Given the description of an element on the screen output the (x, y) to click on. 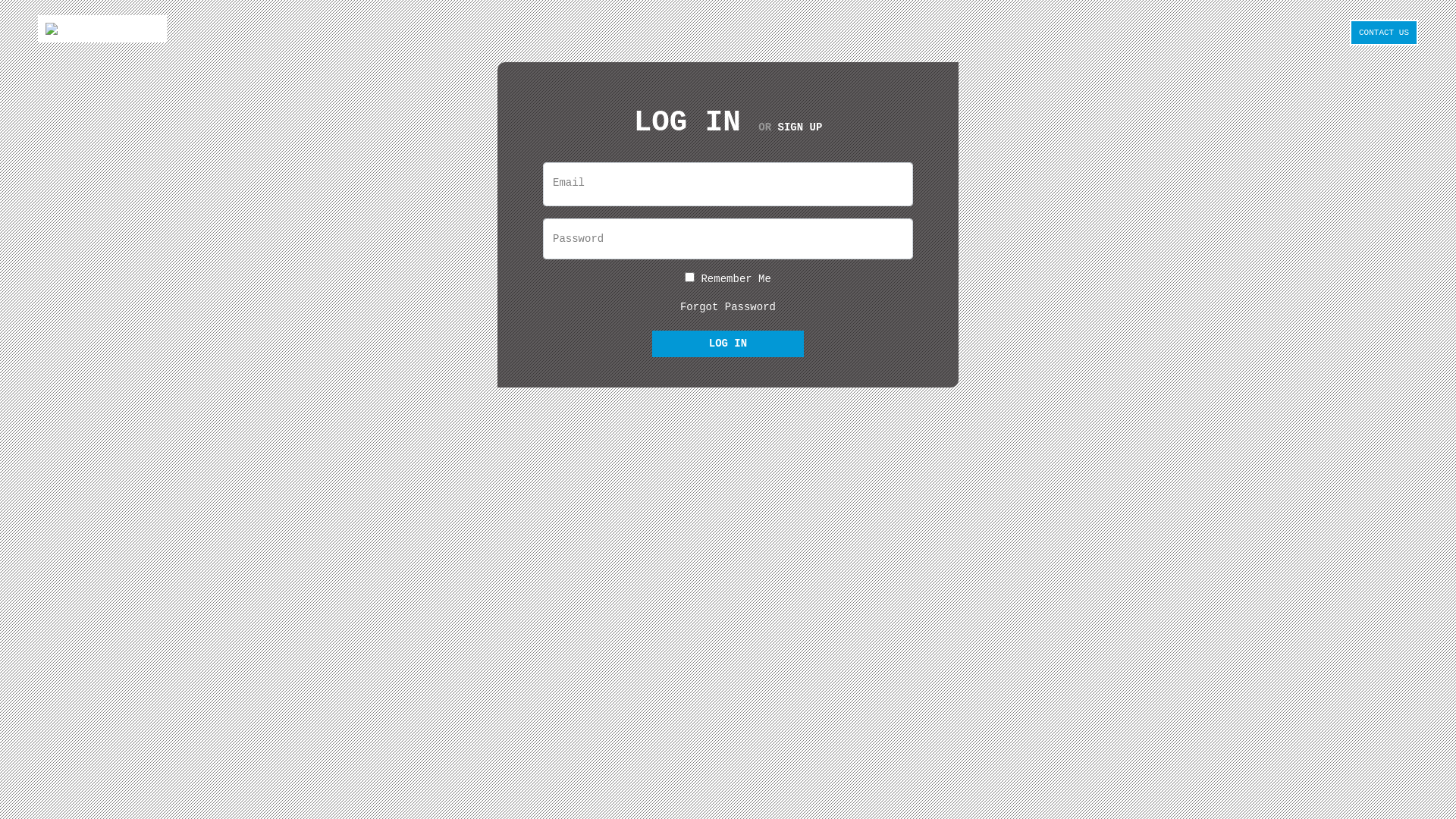
LOG IN Element type: text (727, 343)
SIGN UP Element type: text (799, 127)
Forgot Password Element type: text (727, 307)
CONTACT US Element type: text (1383, 32)
